Given the description of an element on the screen output the (x, y) to click on. 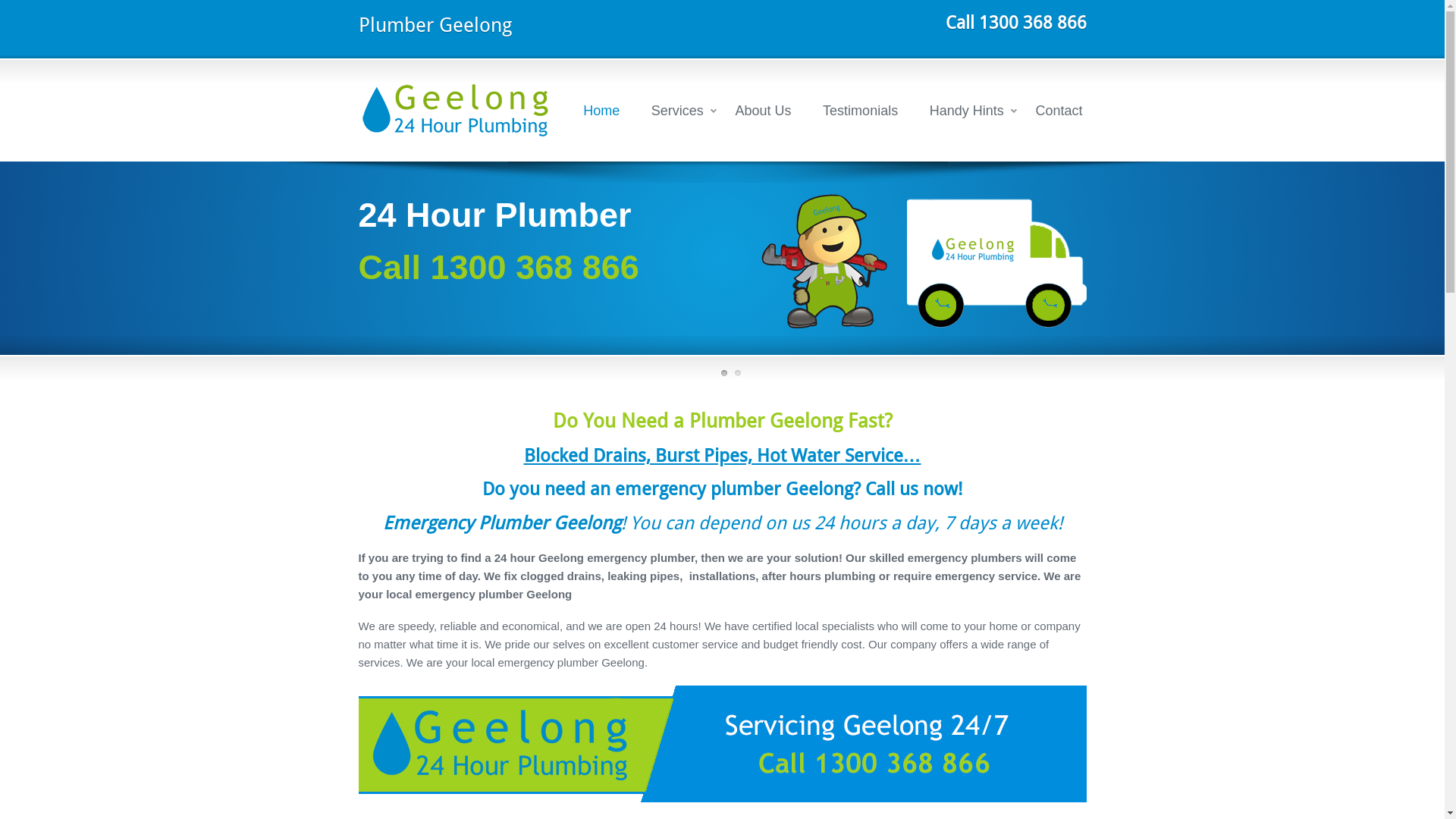
Testimonials Element type: text (860, 110)
2 Element type: text (737, 373)
Handy Hints Element type: text (966, 110)
Home Element type: text (601, 110)
Plumber Geelong  Element type: hover (721, 743)
Services Element type: text (677, 110)
1 Element type: text (723, 373)
Contact Element type: text (1058, 110)
About Us Element type: text (762, 110)
